Given the description of an element on the screen output the (x, y) to click on. 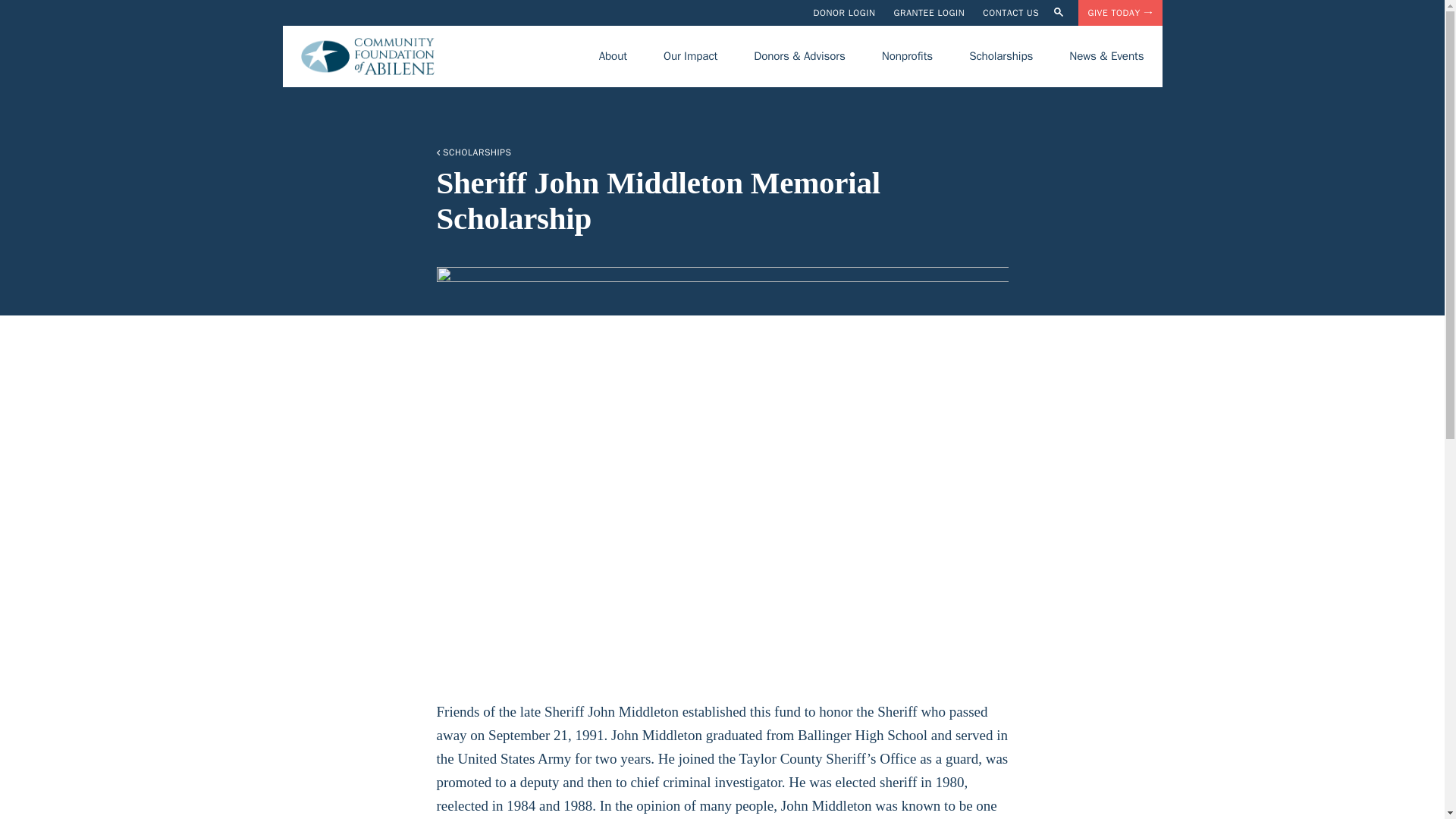
About (612, 56)
Nonprofits (907, 56)
Scholarships (1000, 56)
SCHOLARSHIPS (722, 151)
Our Impact (690, 56)
CONTACT US (1010, 12)
GRANTEE LOGIN (929, 12)
DONOR LOGIN (843, 12)
